Given the description of an element on the screen output the (x, y) to click on. 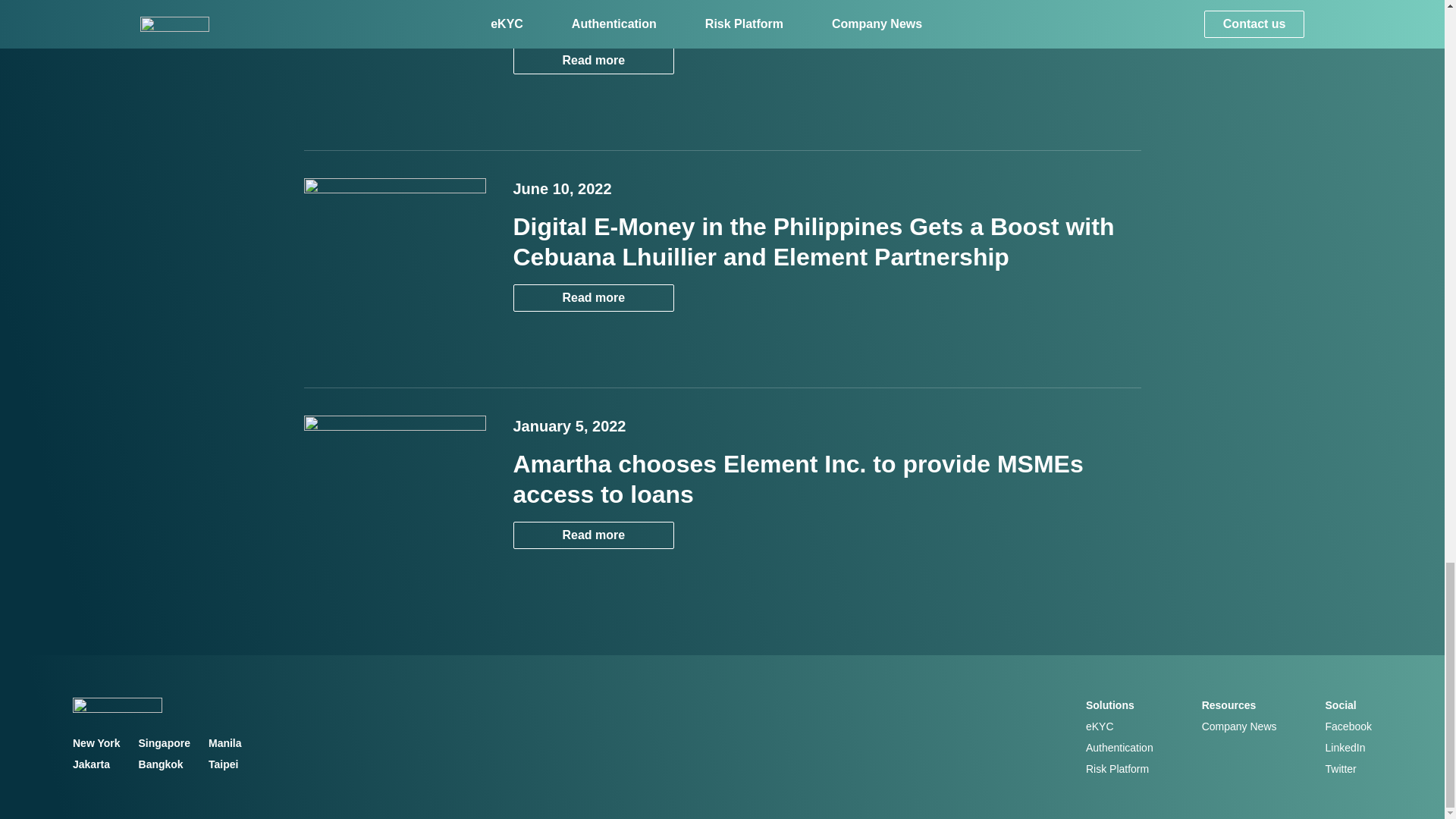
Authentication (1119, 747)
Read more (593, 534)
Facebook (1347, 726)
Read more (593, 297)
Read more (593, 534)
Read more (593, 60)
Risk Platform (1117, 768)
eKYC (1099, 726)
Read more (593, 60)
Read more (593, 298)
Company News (1239, 726)
